Given the description of an element on the screen output the (x, y) to click on. 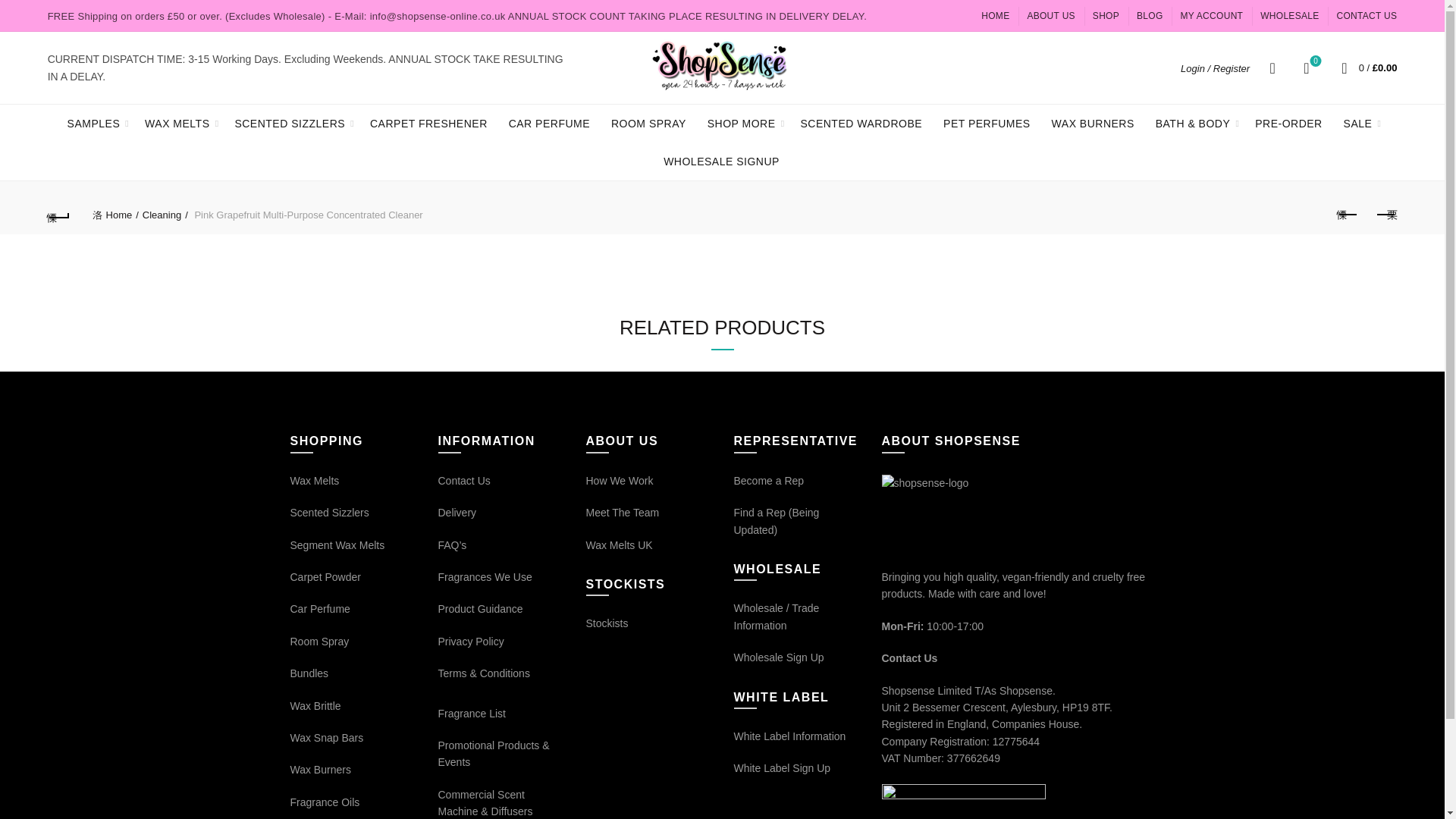
Qty (775, 615)
1 (775, 615)
